Given the description of an element on the screen output the (x, y) to click on. 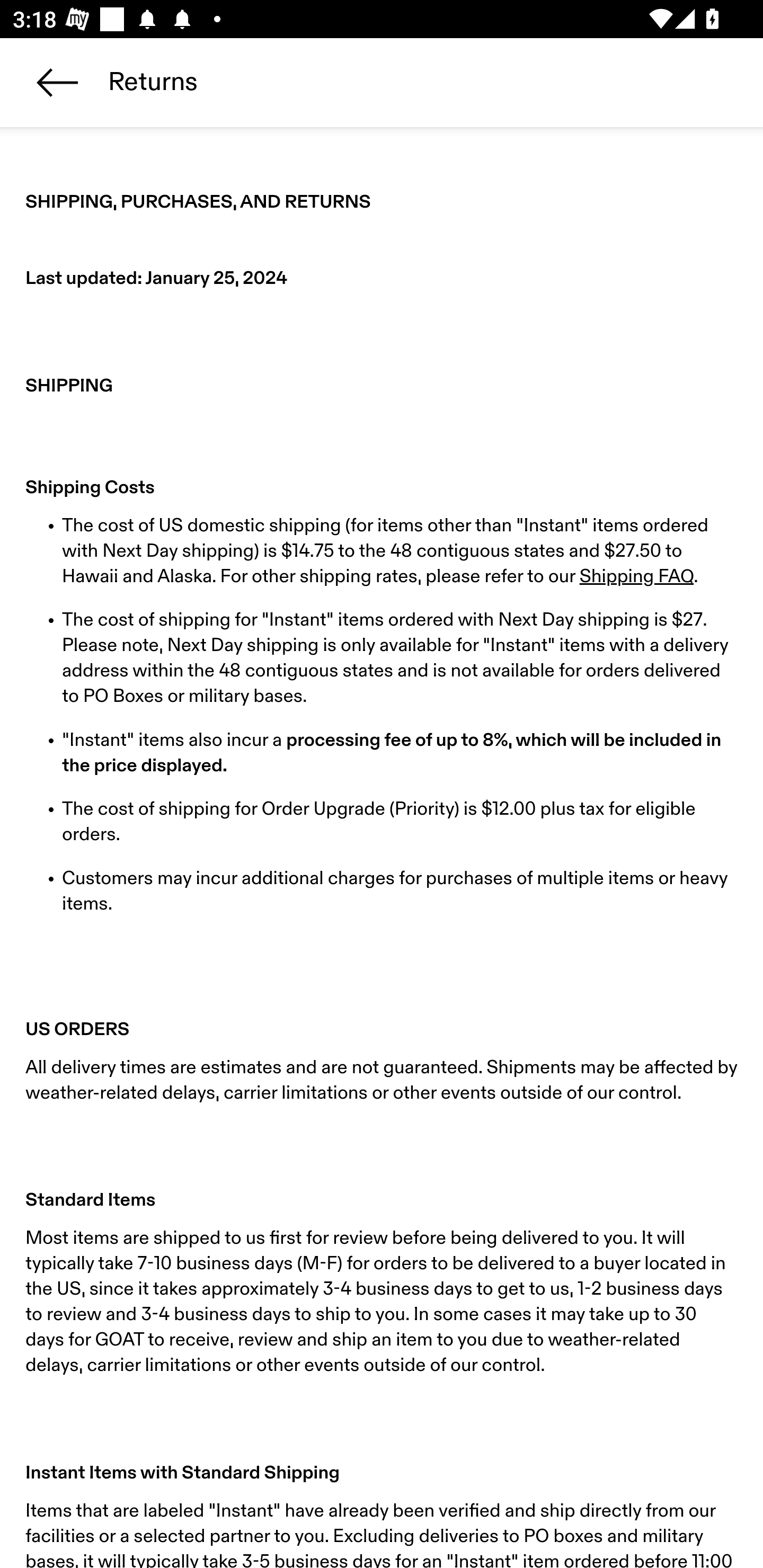
Navigate up (56, 82)
Shipping FAQ (636, 576)
